Given the description of an element on the screen output the (x, y) to click on. 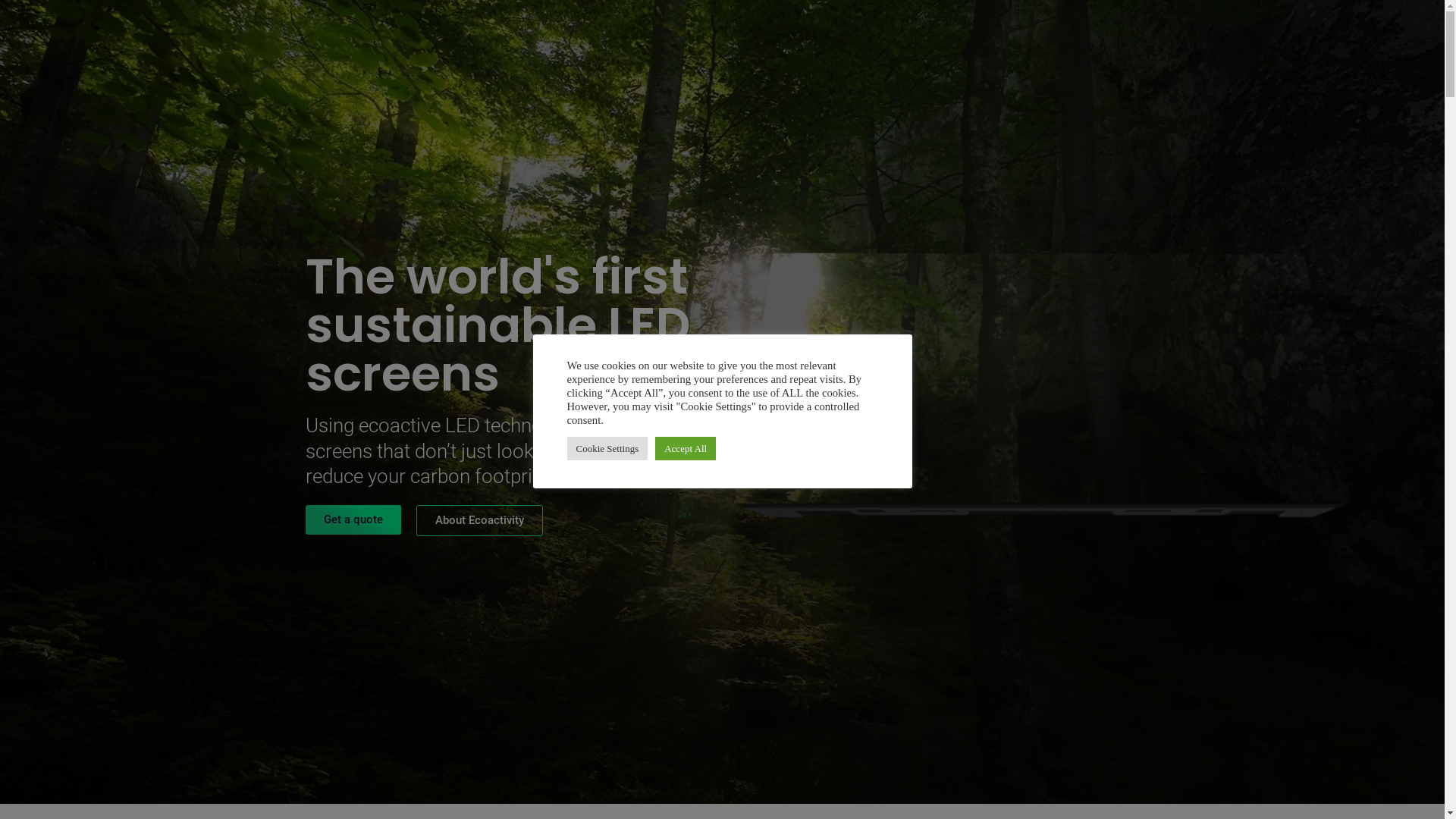
About Ecoactivity Element type: text (478, 520)
Get a quote Element type: text (352, 519)
Accept All Element type: text (685, 448)
Cookie Settings Element type: text (607, 448)
